Given the description of an element on the screen output the (x, y) to click on. 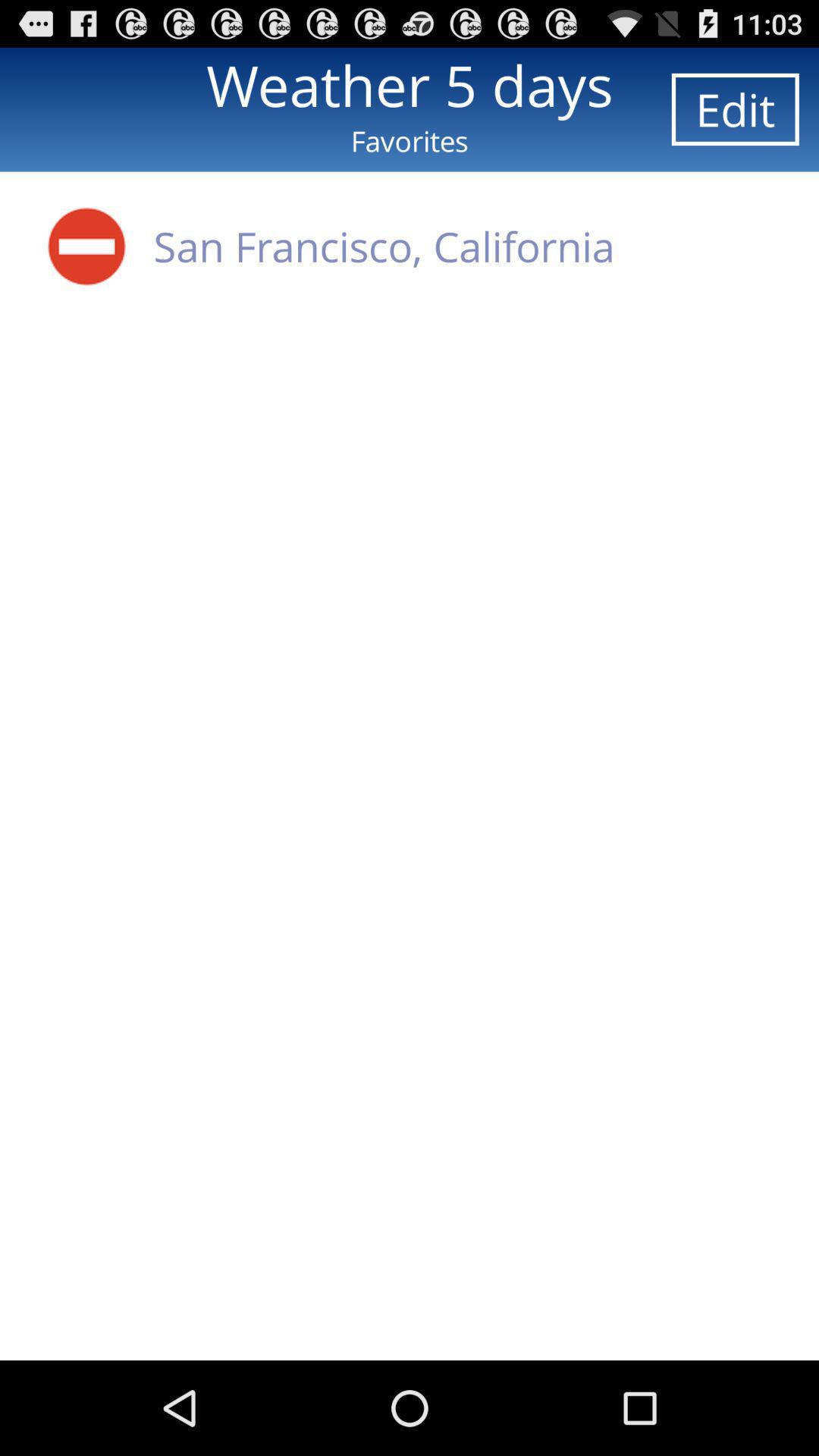
press item next to aa item (383, 245)
